Given the description of an element on the screen output the (x, y) to click on. 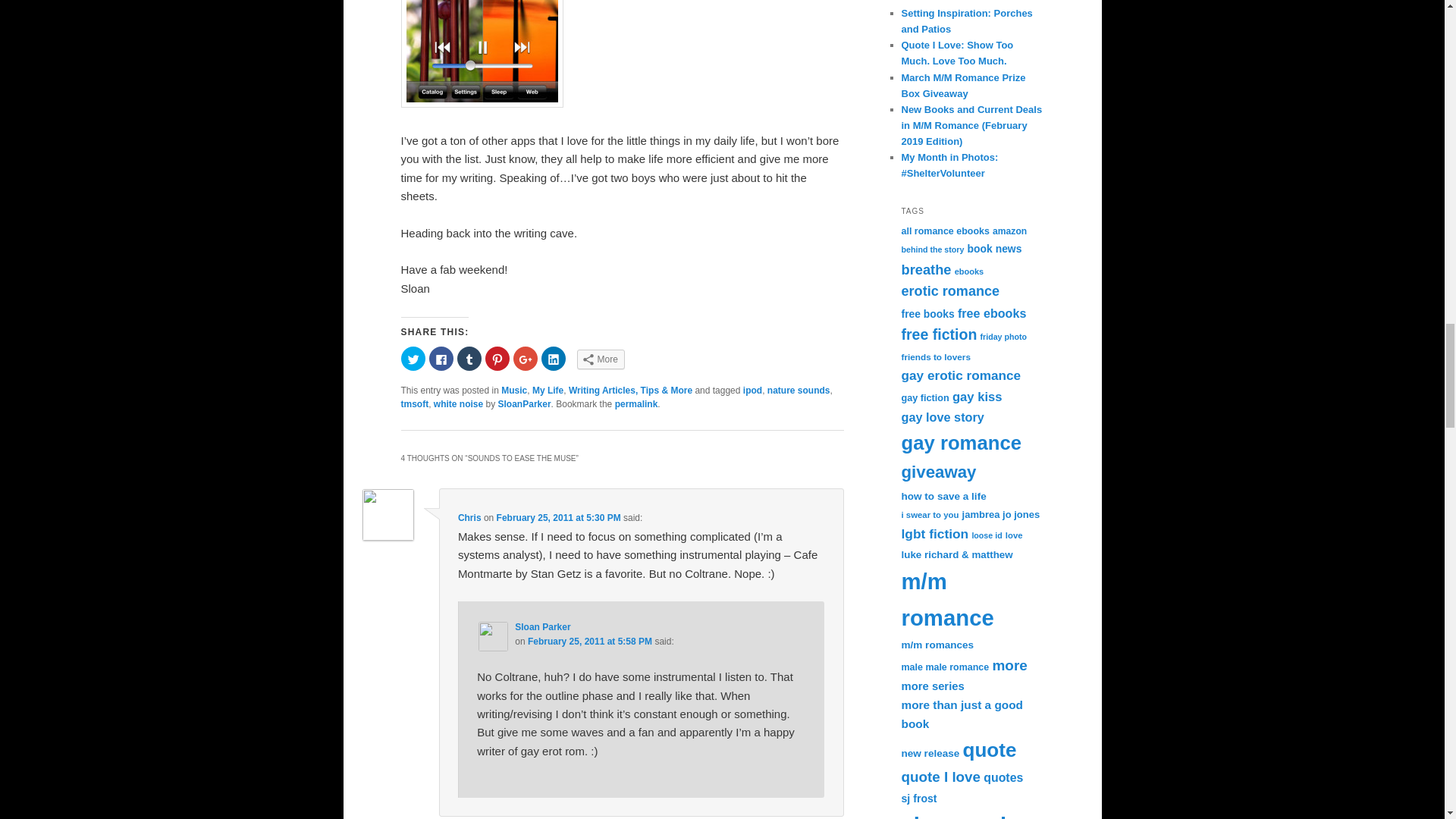
Click to share on Facebook (440, 358)
Click to share on Pinterest (496, 358)
Click to share on Twitter (412, 358)
My Life (547, 389)
More (600, 359)
Click to share on Tumblr (468, 358)
Music (513, 389)
